Given the description of an element on the screen output the (x, y) to click on. 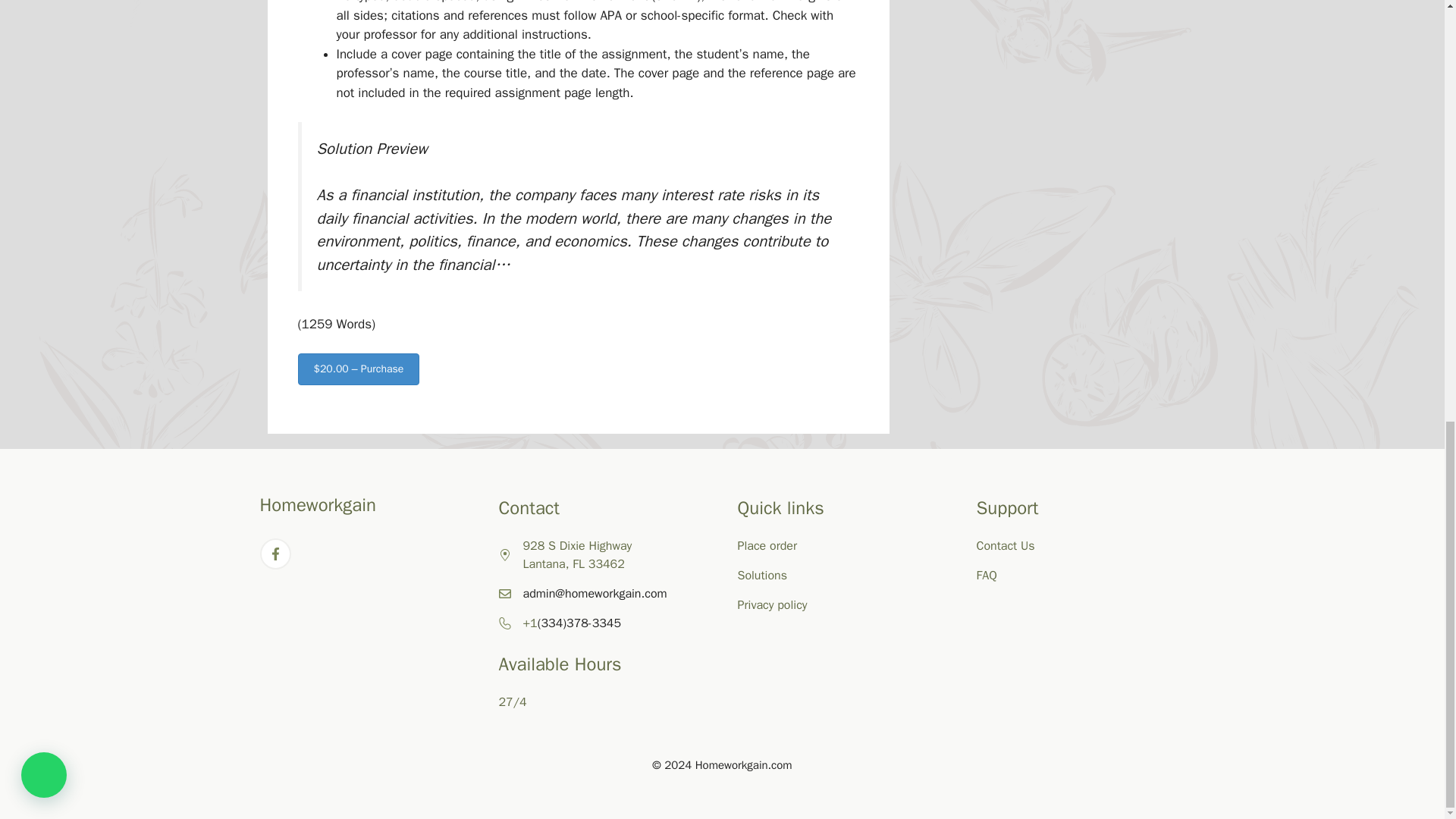
Solutions (761, 574)
Contact Us (1005, 545)
FAQ (986, 574)
Scroll back to top (1406, 666)
Privacy policy (771, 604)
Place order (766, 545)
